Given the description of an element on the screen output the (x, y) to click on. 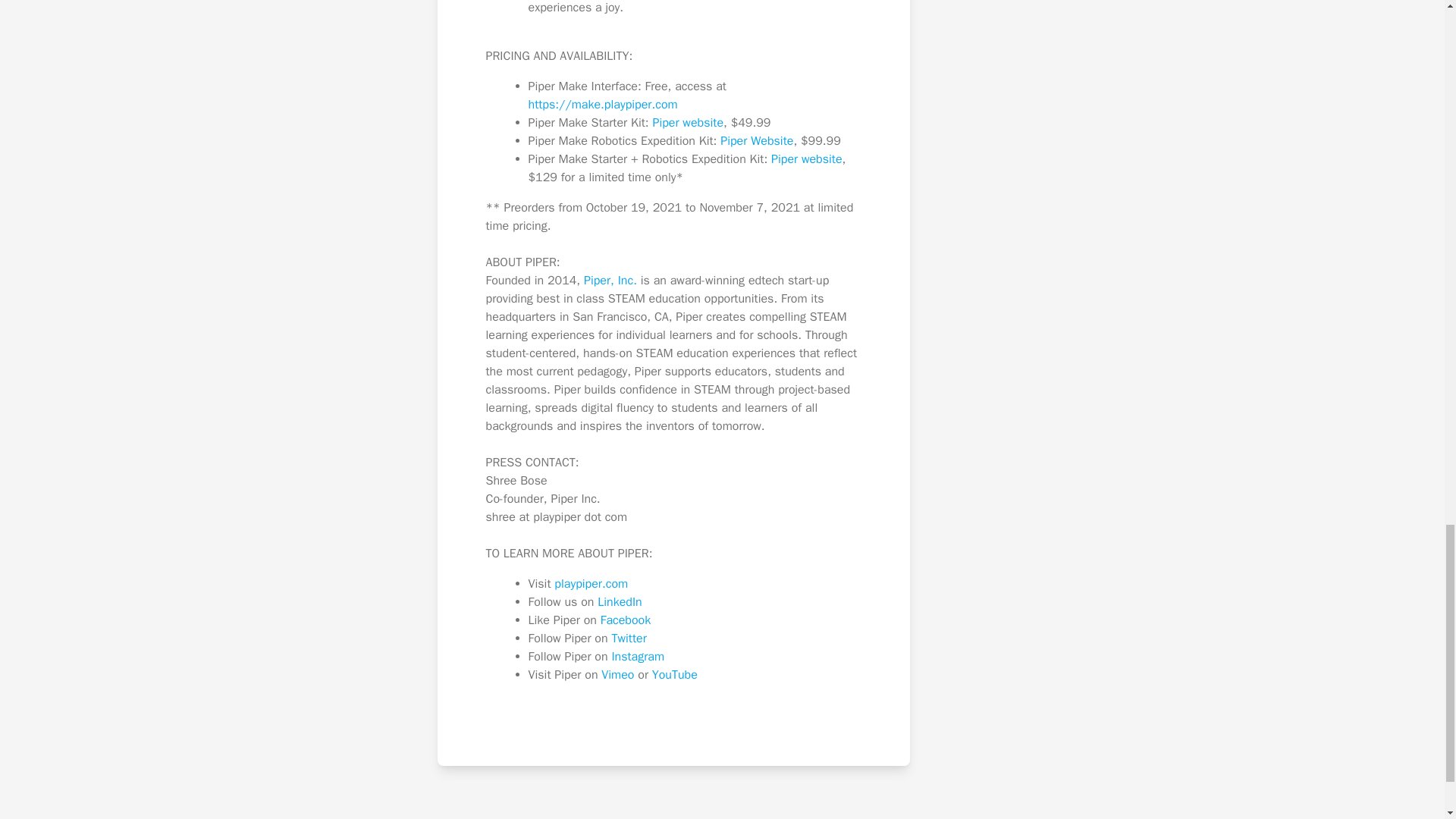
LinkedIn (619, 601)
playpiper.com (590, 583)
Facebook (624, 620)
Piper website (807, 159)
Piper, Inc. (610, 280)
Twitter (628, 638)
Piper website (687, 122)
Piper Website (756, 140)
